Given the description of an element on the screen output the (x, y) to click on. 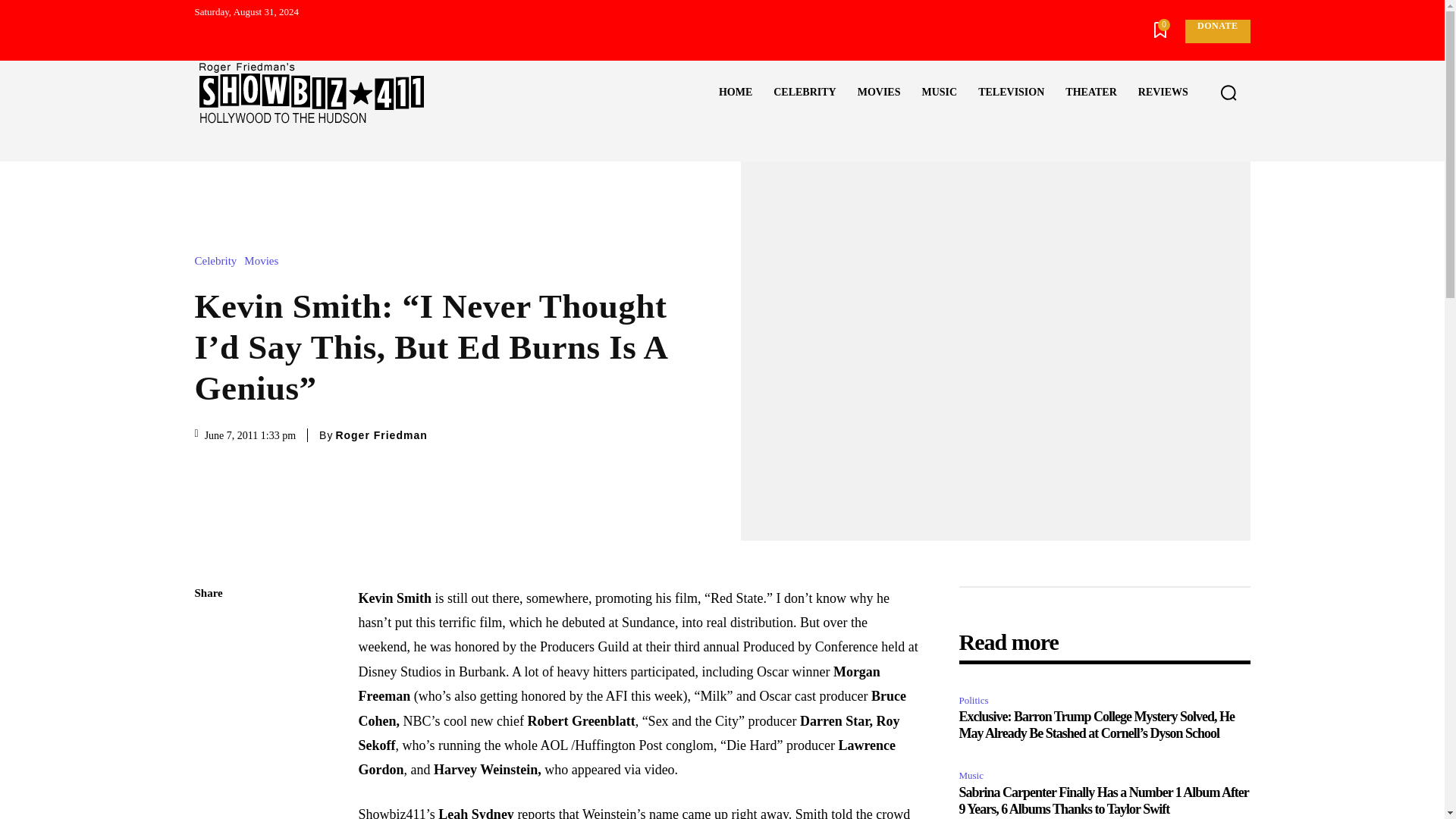
REVIEWS (1162, 92)
Celebrity (218, 260)
THEATER (1090, 92)
MUSIC (939, 92)
TELEVISION (1011, 92)
DONATE (1217, 31)
HOME (734, 92)
Donate (1217, 31)
MOVIES (879, 92)
CELEBRITY (803, 92)
